Given the description of an element on the screen output the (x, y) to click on. 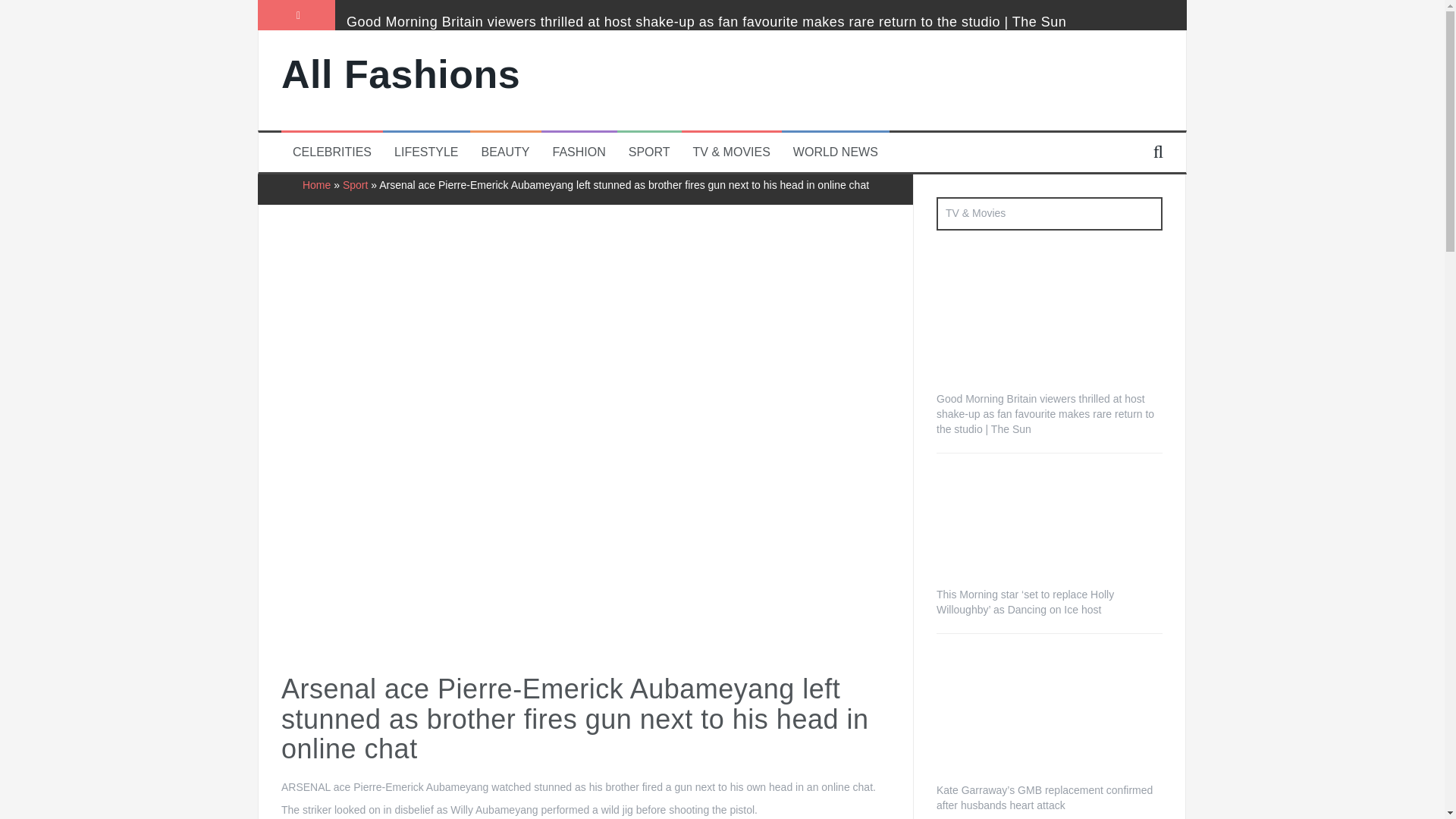
SPORT (648, 152)
WORLD NEWS (835, 152)
Home (316, 184)
Sport (355, 184)
LIFESTYLE (426, 152)
BEAUTY (505, 152)
CELEBRITIES (331, 152)
FASHION (579, 152)
All Fashions (400, 74)
